Given the description of an element on the screen output the (x, y) to click on. 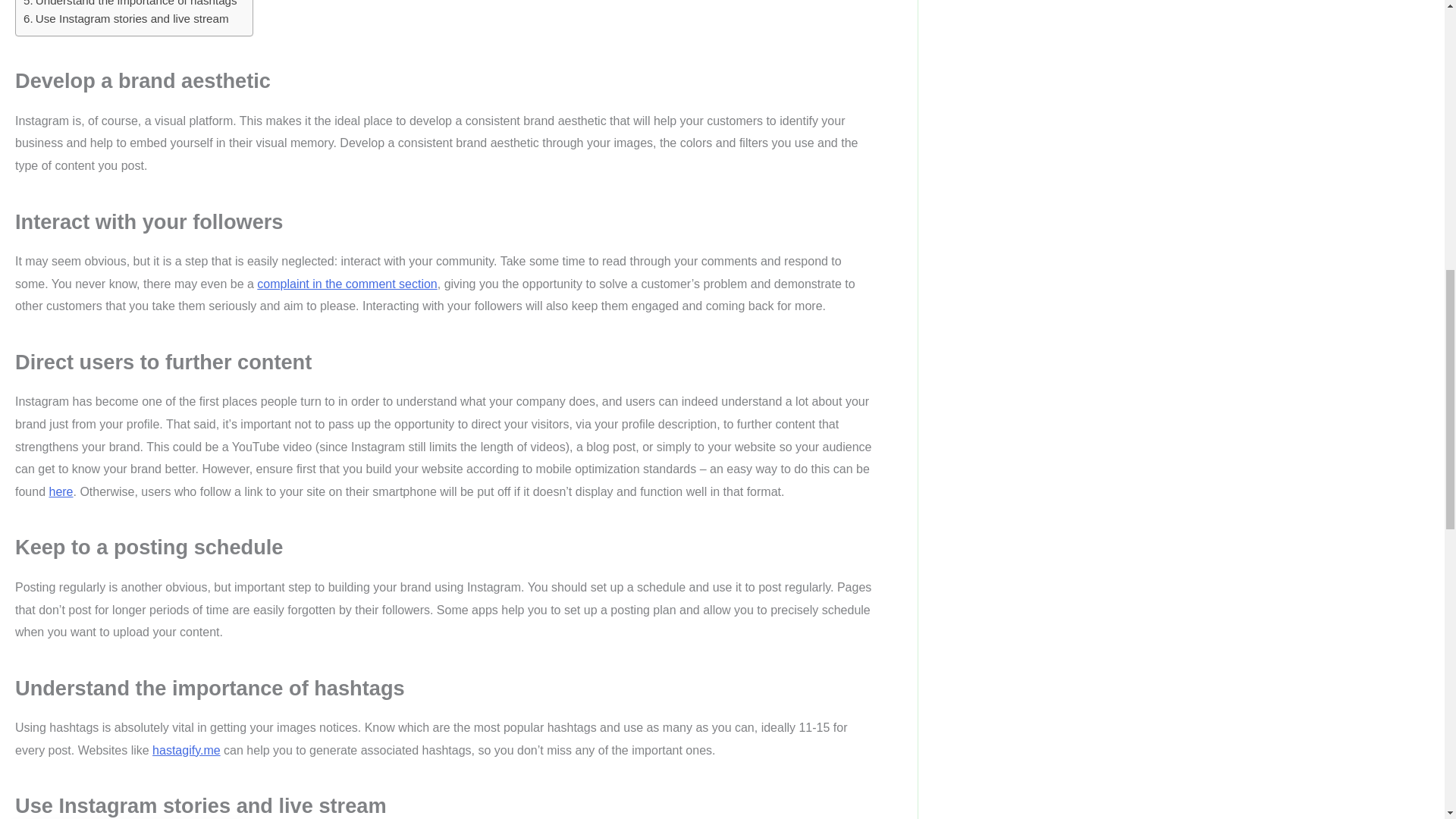
Use Instagram stories and live stream (125, 18)
complaint in the comment section (346, 283)
Understand the importance of hashtags (130, 4)
hastagify.me (186, 749)
Use Instagram stories and live stream (125, 18)
Understand the importance of hashtags (130, 4)
here (60, 491)
